Given the description of an element on the screen output the (x, y) to click on. 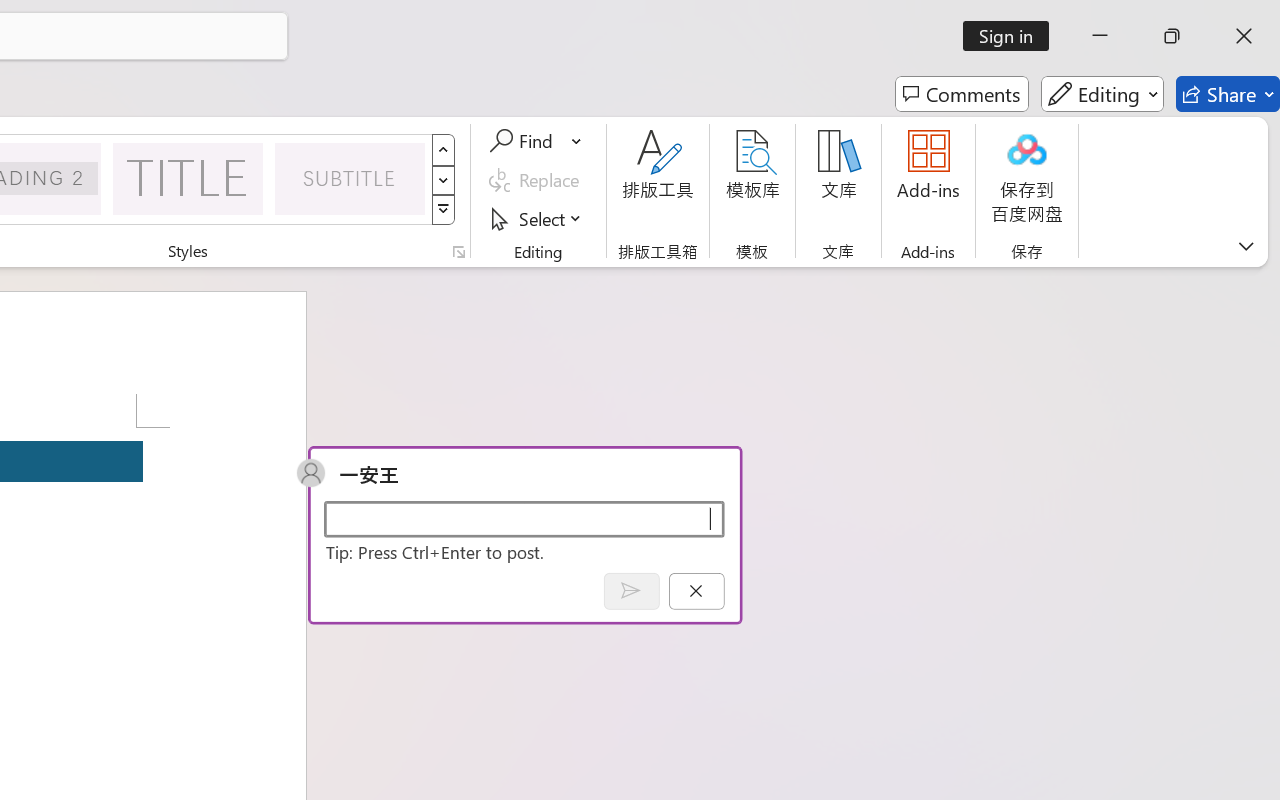
Cancel (696, 590)
Editing (1101, 94)
Subtitle (349, 178)
Start a conversation (524, 518)
